Given the description of an element on the screen output the (x, y) to click on. 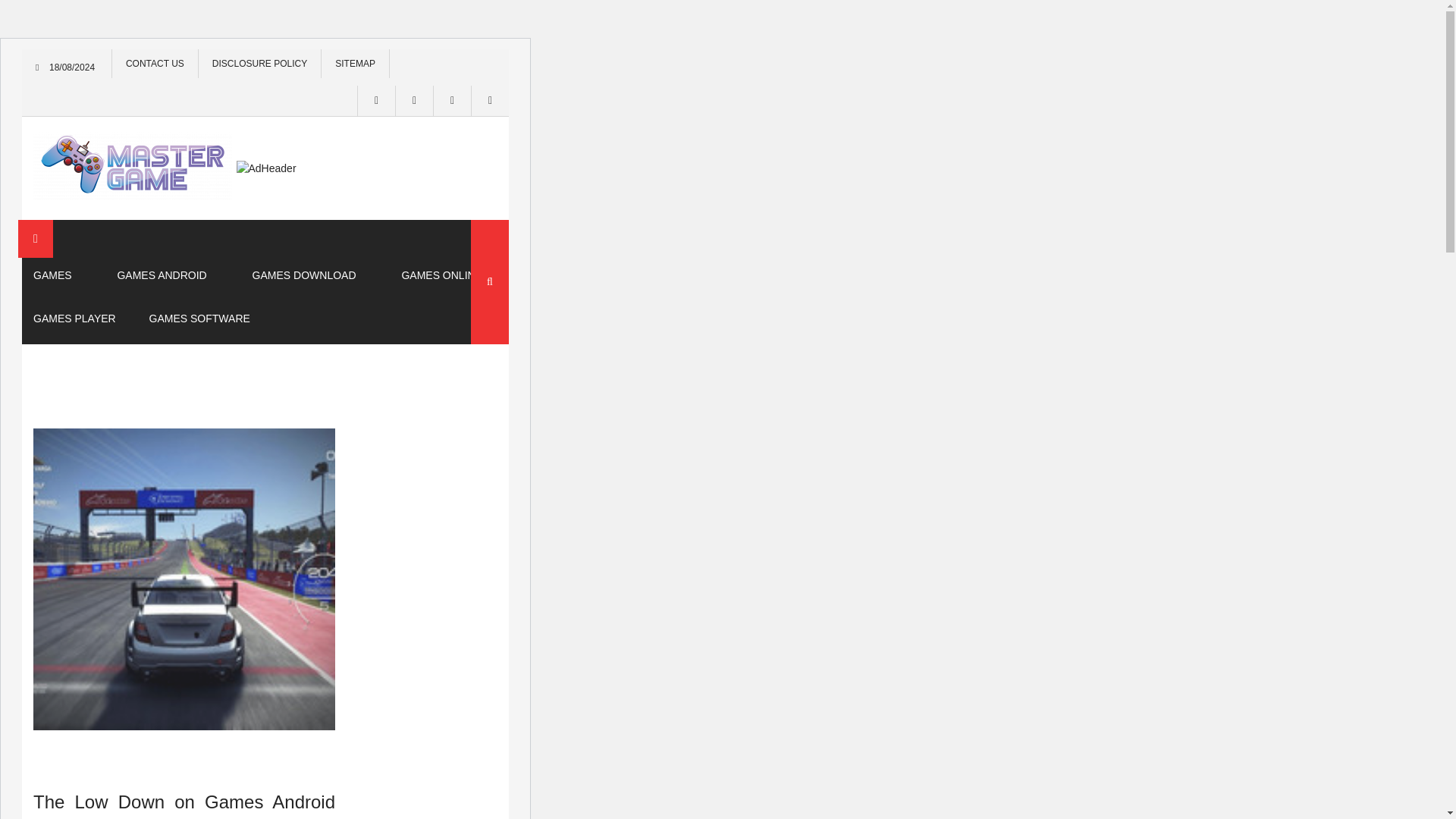
GAMES (52, 275)
CONTACT US (154, 62)
GAMES ANDROID (161, 275)
INSTAGRAM (413, 100)
PINTEREST (489, 100)
TWITTER (451, 100)
DISCLOSURE POLICY (259, 62)
GAMES DOWNLOAD (304, 275)
GAMES SOFTWARE (198, 318)
